Given the description of an element on the screen output the (x, y) to click on. 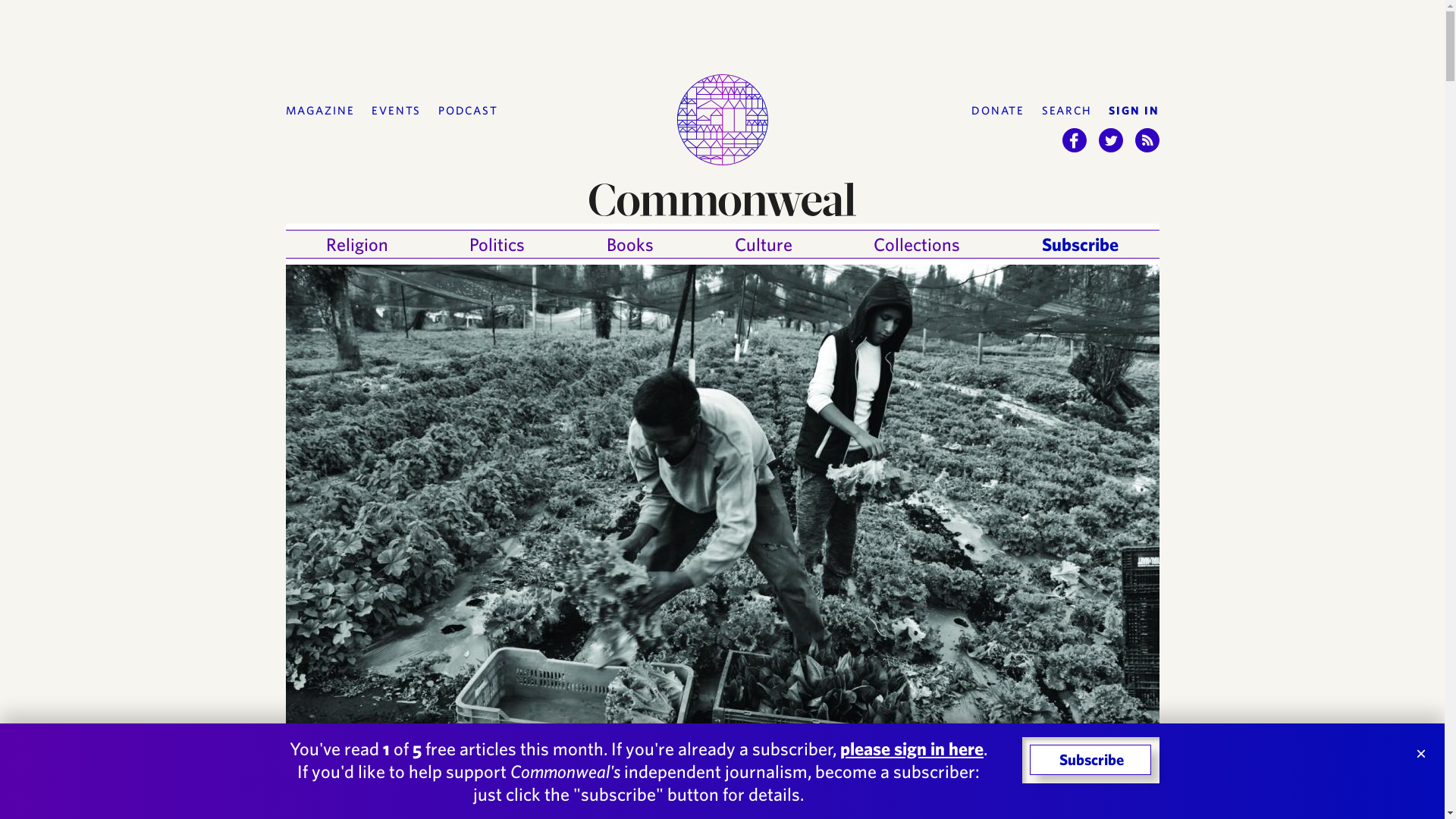
Books (630, 243)
Politics (496, 243)
Religion (357, 243)
Collections (916, 243)
EVENTS (395, 111)
SIGN IN (1133, 111)
DONATE (998, 111)
SEARCH (1067, 111)
3rd party ad content (721, 33)
MAGAZINE (319, 111)
Culture (763, 243)
Subscribe (1080, 243)
PODCAST (467, 111)
